Given the description of an element on the screen output the (x, y) to click on. 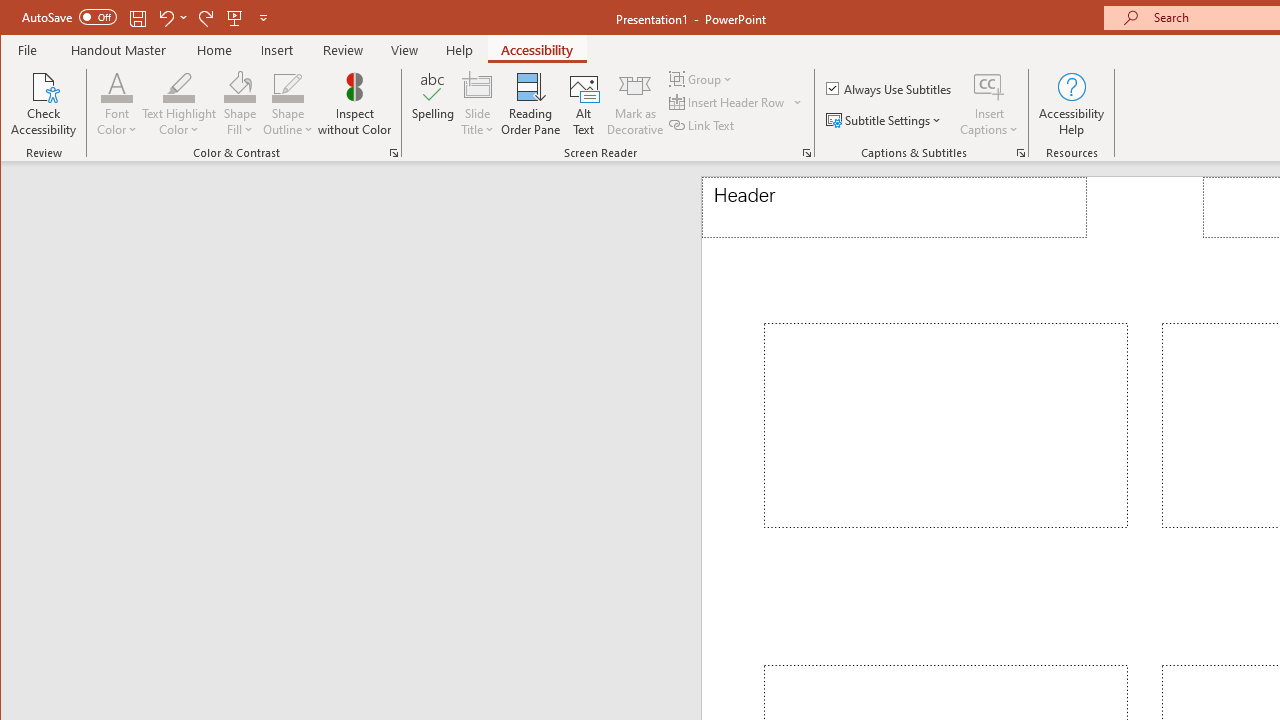
Spelling... (432, 104)
Handout Master (118, 50)
Slide Title (477, 104)
Text Highlight Color (178, 104)
